Given the description of an element on the screen output the (x, y) to click on. 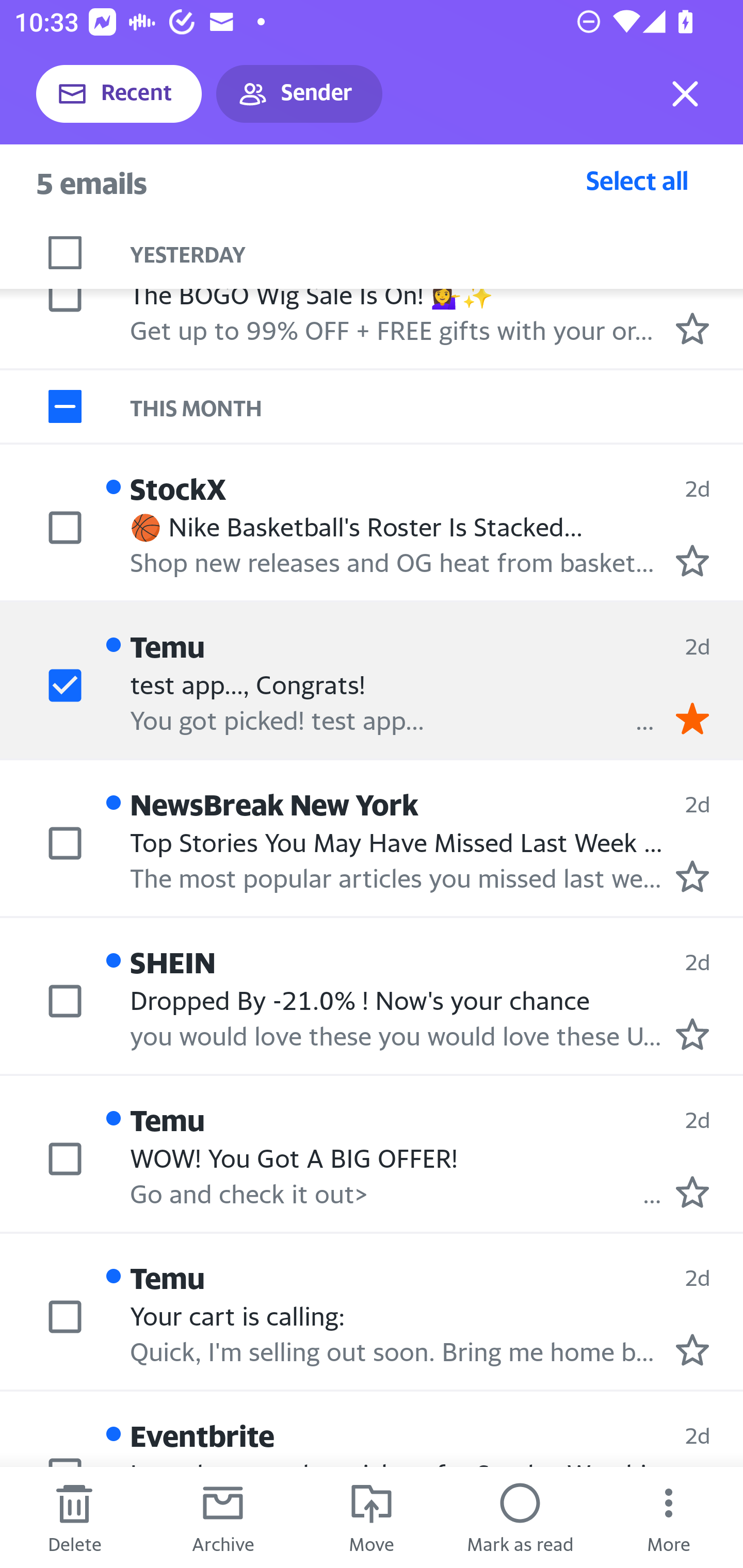
Sender (299, 93)
Exit selection mode (684, 93)
Select all (637, 180)
Mark as starred. (692, 328)
THIS MONTH (436, 406)
Mark as starred. (692, 560)
Remove star. (692, 718)
Mark as starred. (692, 875)
Mark as starred. (692, 1034)
Mark as starred. (692, 1192)
Mark as starred. (692, 1349)
Delete (74, 1517)
Archive (222, 1517)
Move (371, 1517)
Mark as read (519, 1517)
More (668, 1517)
